Given the description of an element on the screen output the (x, y) to click on. 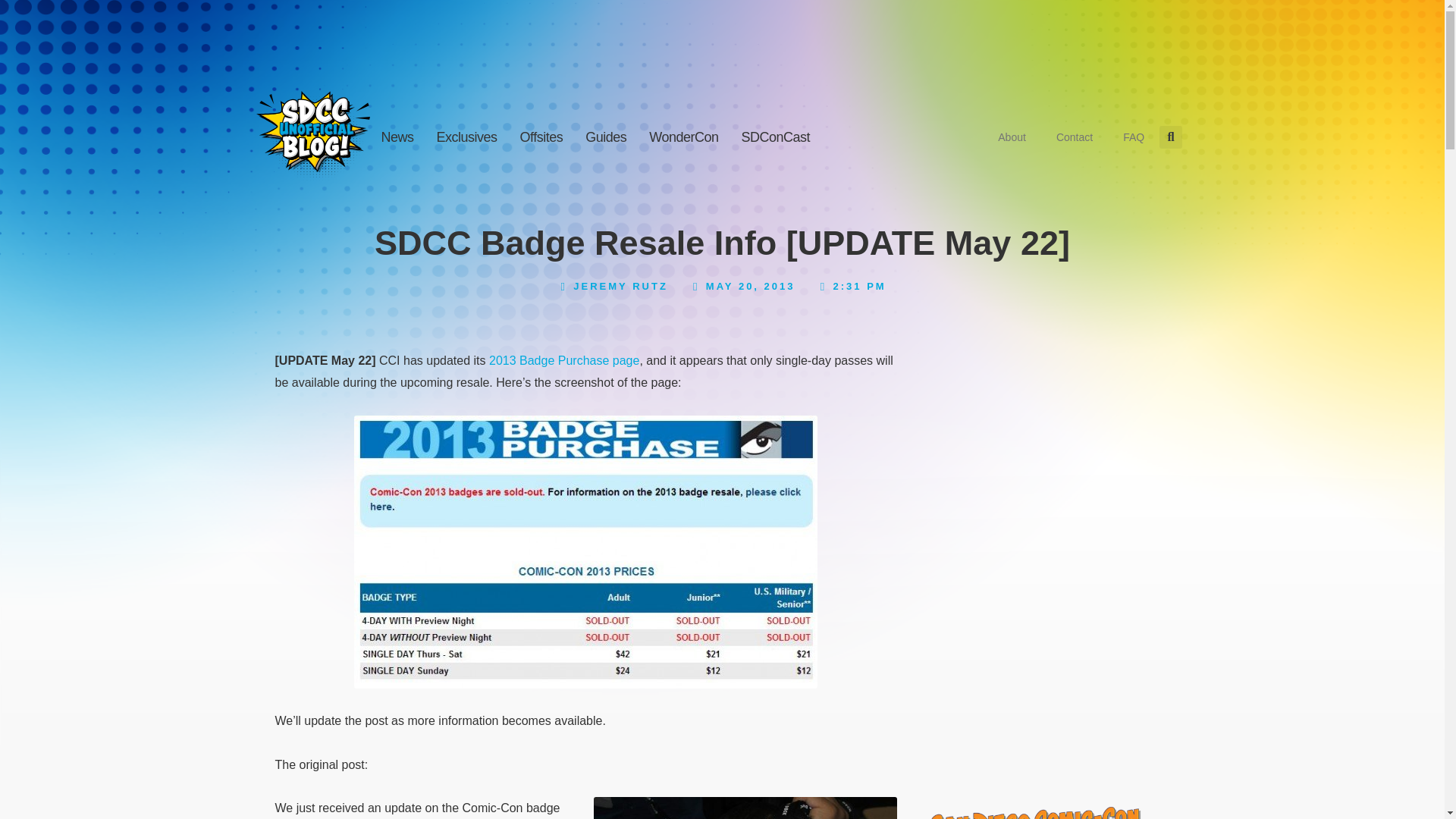
Contact (1074, 136)
Exclusives (466, 137)
Offsites (541, 137)
WonderCon (683, 137)
Guides (605, 137)
About (1011, 136)
SDConCast (776, 137)
FAQ (1133, 136)
News (397, 137)
